Given the description of an element on the screen output the (x, y) to click on. 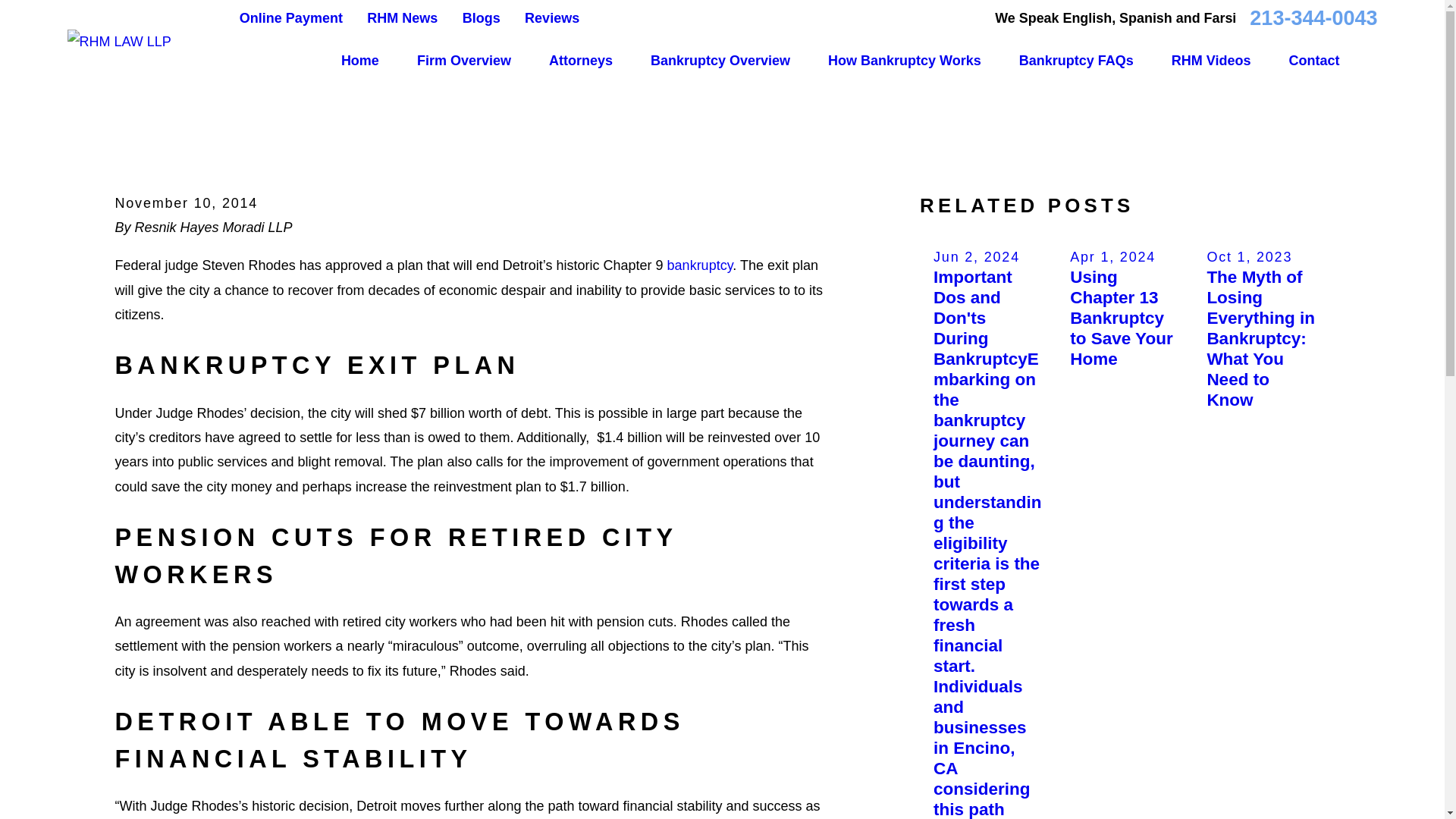
Firm Overview (463, 60)
Blogs (481, 17)
RHM News (402, 17)
California Bankruptcy Lawyer (699, 264)
Home (118, 41)
How Bankruptcy Works (904, 60)
Reviews (551, 17)
Home (359, 60)
213-344-0043 (1313, 18)
Online Payment (291, 17)
